Given the description of an element on the screen output the (x, y) to click on. 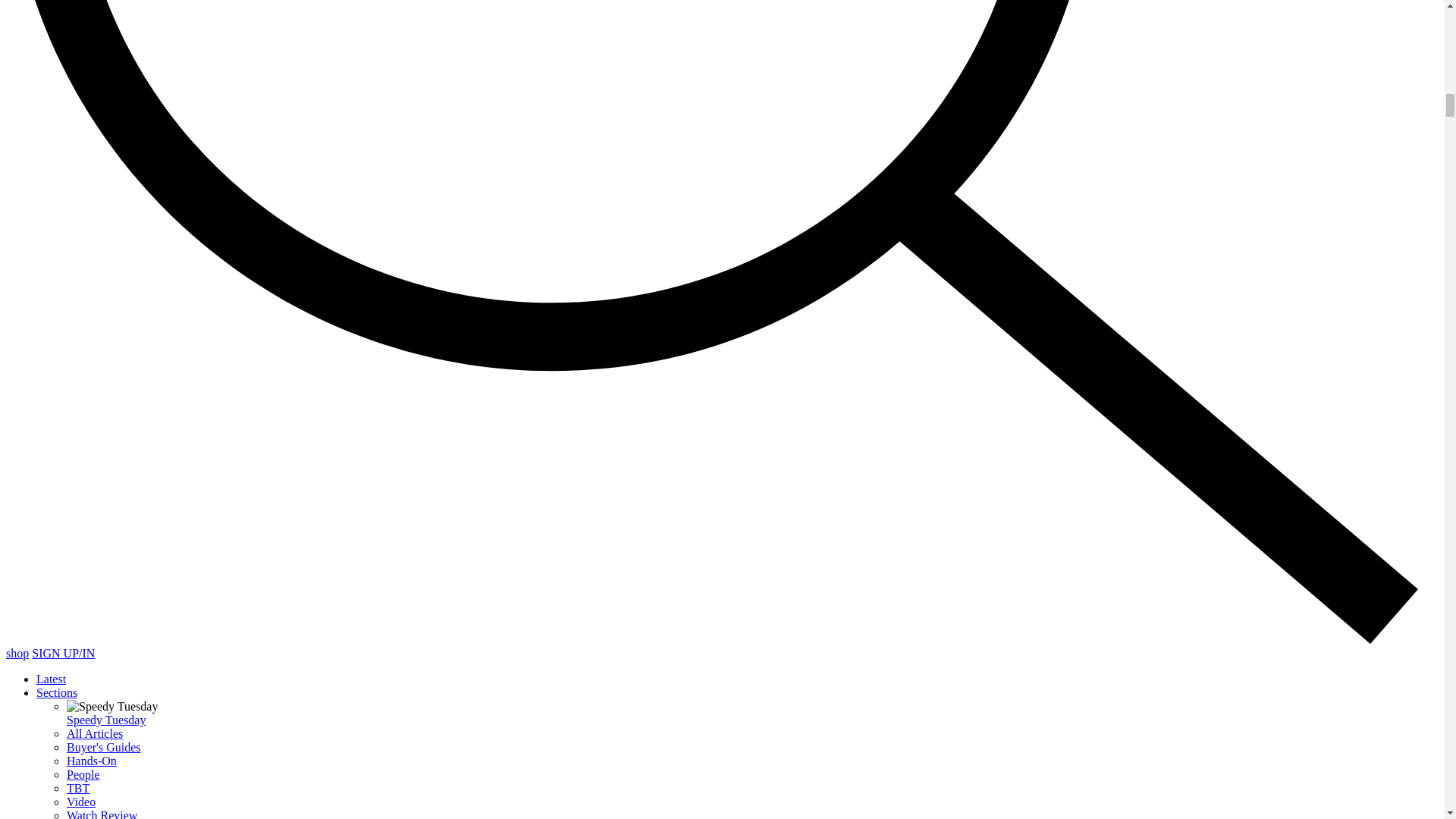
Video (81, 801)
Buyer's Guides (103, 747)
Watch Review (101, 814)
shop (17, 653)
All Articles (94, 733)
TBT (77, 788)
Speedy Tuesday (105, 719)
Latest (50, 678)
Hands-On (91, 760)
People (83, 774)
